Given the description of an element on the screen output the (x, y) to click on. 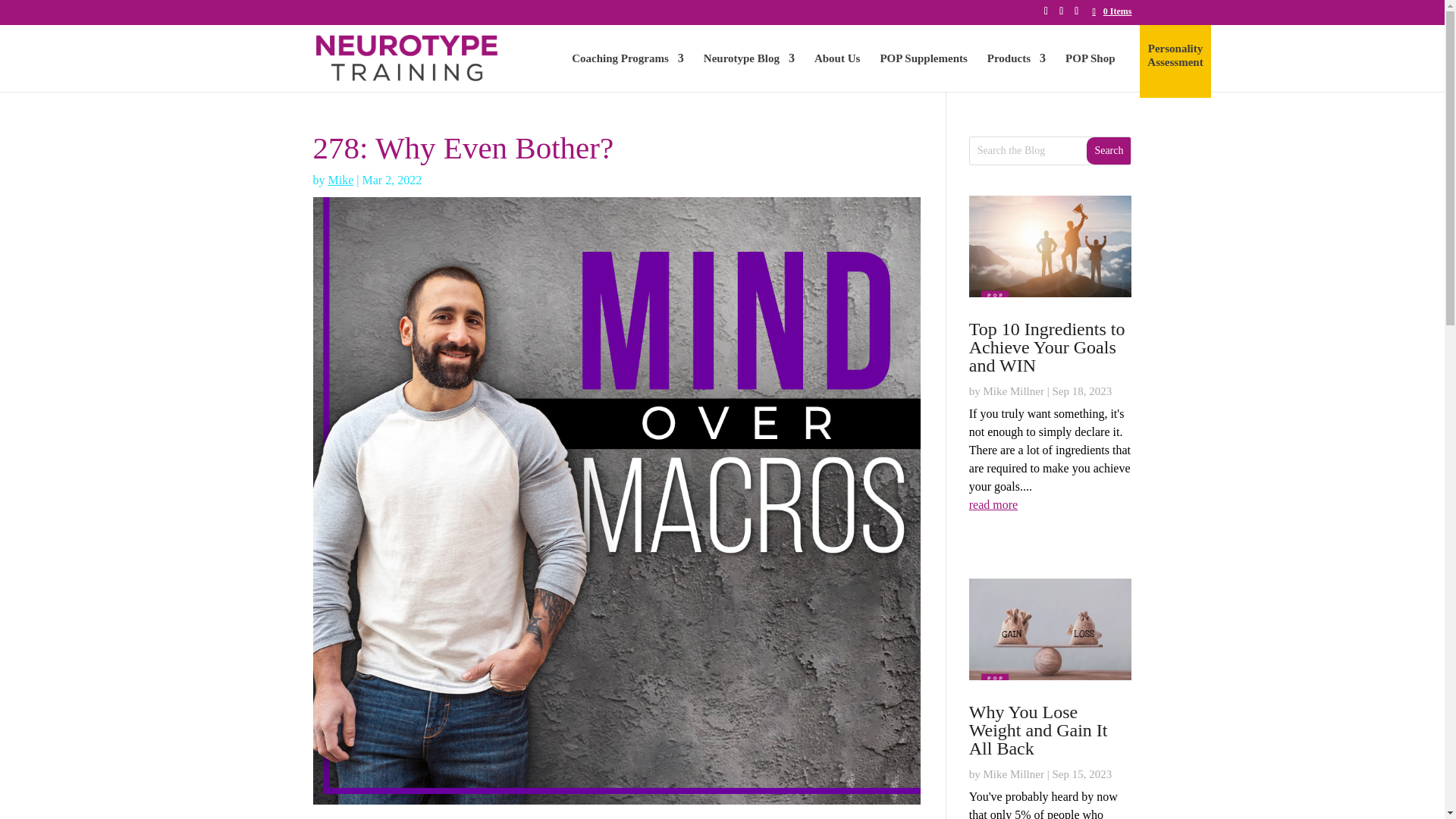
POP Shop (1090, 71)
0 Items (1111, 10)
Posts by Mike Millner (1013, 390)
Personality Assessment (1174, 68)
Posts by Mike Millner (1013, 774)
Mike (340, 178)
Products (1016, 71)
Neurotype Blog (748, 71)
Search (1108, 149)
Posts by Mike (340, 178)
Coaching Programs (628, 71)
About Us (836, 71)
POP Supplements (922, 71)
Search (1108, 149)
